Given the description of an element on the screen output the (x, y) to click on. 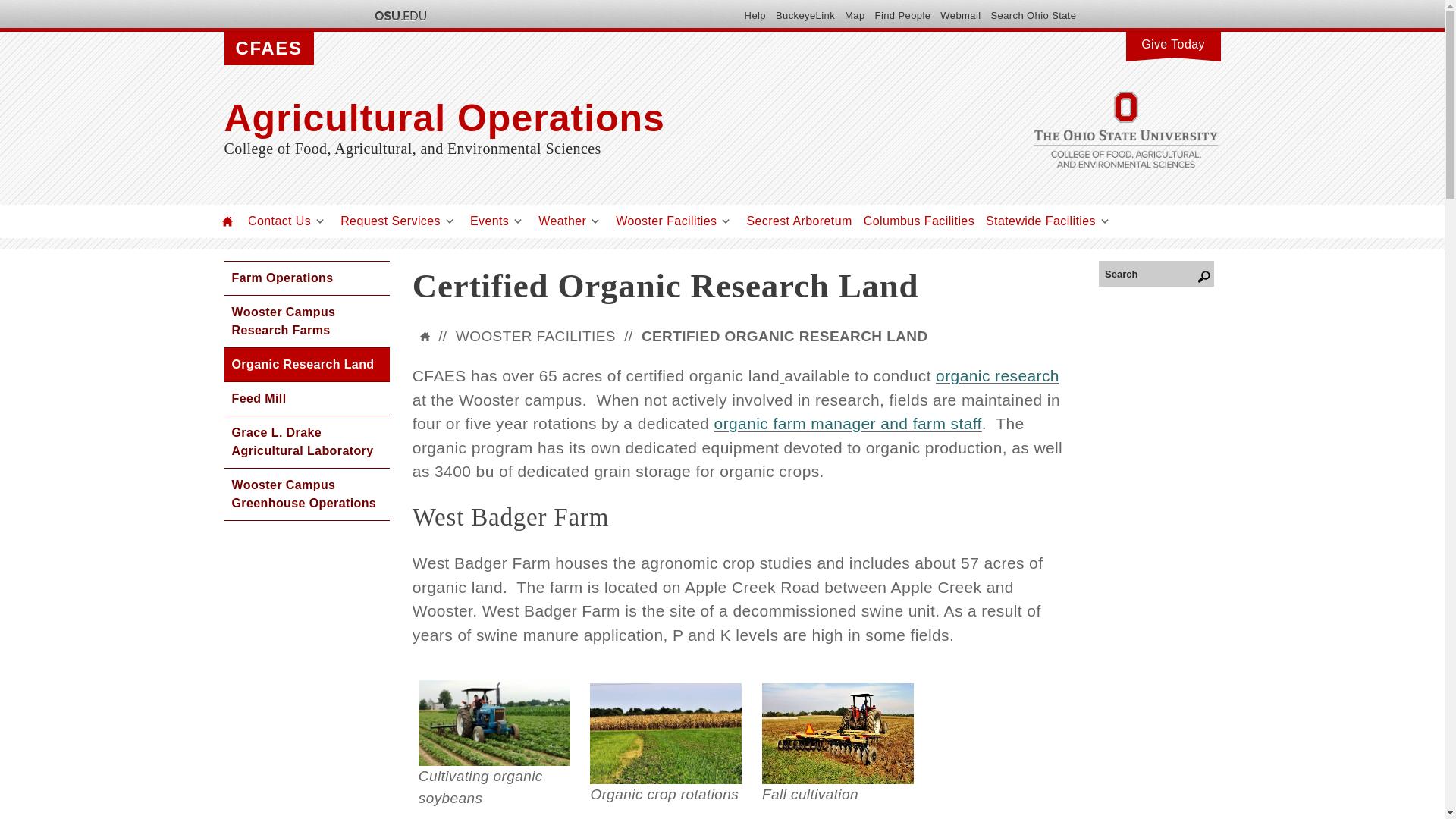
Fall cultivation (837, 733)
CFAES (269, 48)
Search Ohio State (1032, 15)
Contact Us (279, 221)
Webmail (959, 15)
BuckeyeLink (805, 15)
Events (489, 221)
Map (854, 15)
Cultivating organic soybeans (494, 722)
Request Services (390, 221)
Find People (903, 15)
Agricultural Operations (572, 118)
Weather (562, 221)
Search (1155, 273)
The Ohio State University (399, 15)
